Given the description of an element on the screen output the (x, y) to click on. 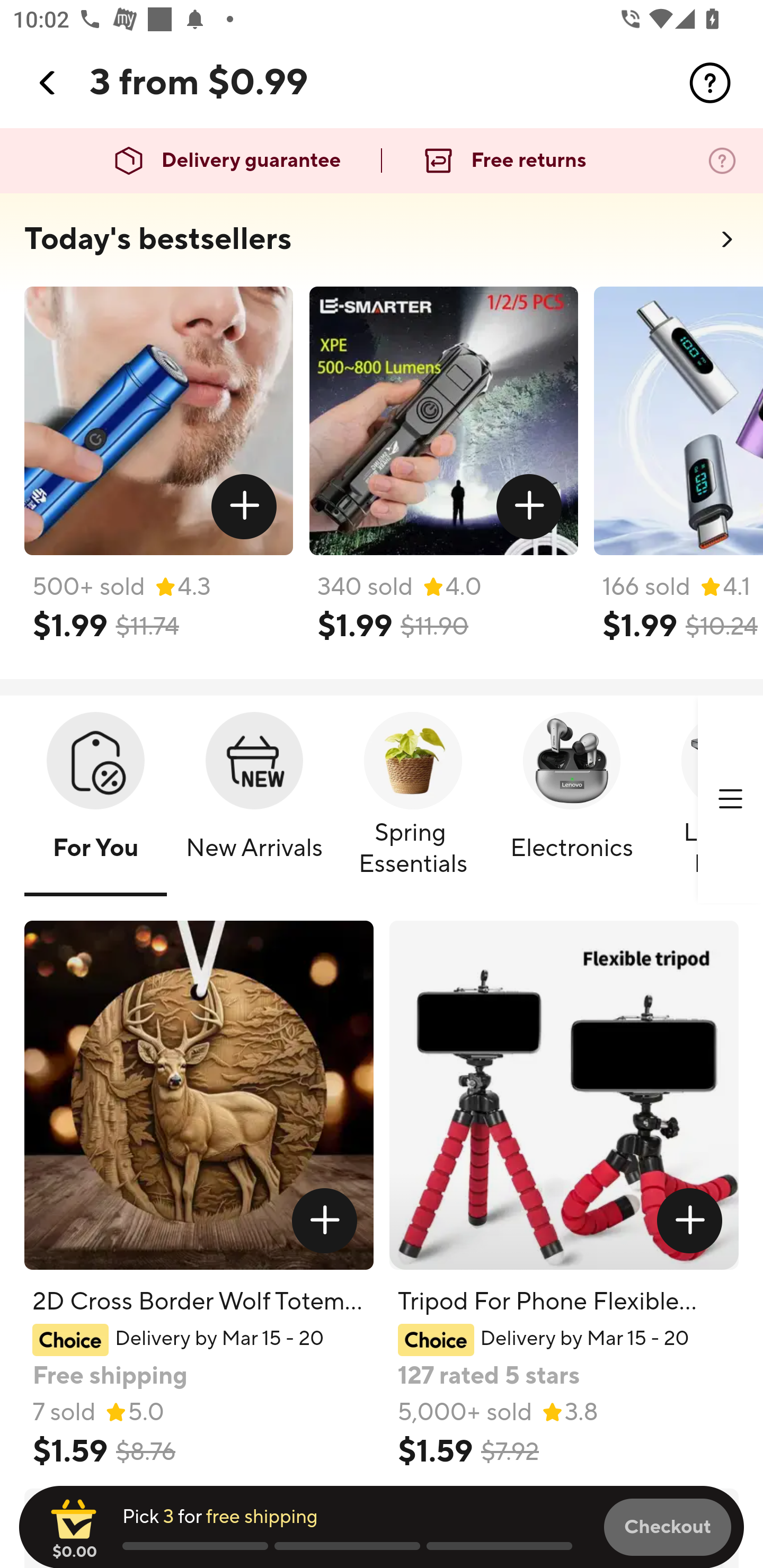
 (710, 82)
 (48, 82)
Today's bestsellers  Today's bestsellers  (381, 244)
Today's bestsellers (157, 239)
 (244, 506)
 (529, 506)
 (730, 799)
144x144.png_ For You (95, 800)
144x144.png_ New Arrivals (254, 800)
200x200.png_ Spring Essentials (412, 800)
300x300.png_ Electronics (571, 800)
 (323, 1220)
 (689, 1220)
